Given the description of an element on the screen output the (x, y) to click on. 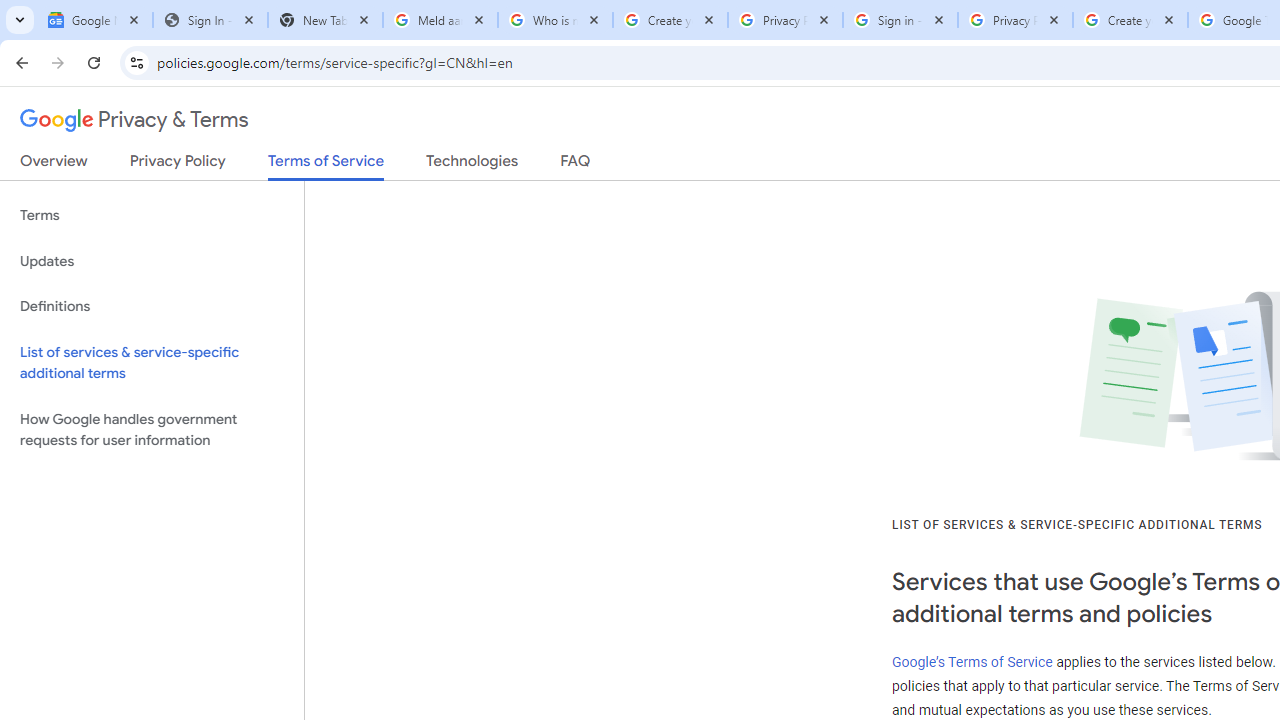
Google News (95, 20)
New Tab (324, 20)
Create your Google Account (1129, 20)
Definitions (152, 306)
Create your Google Account (670, 20)
